Given the description of an element on the screen output the (x, y) to click on. 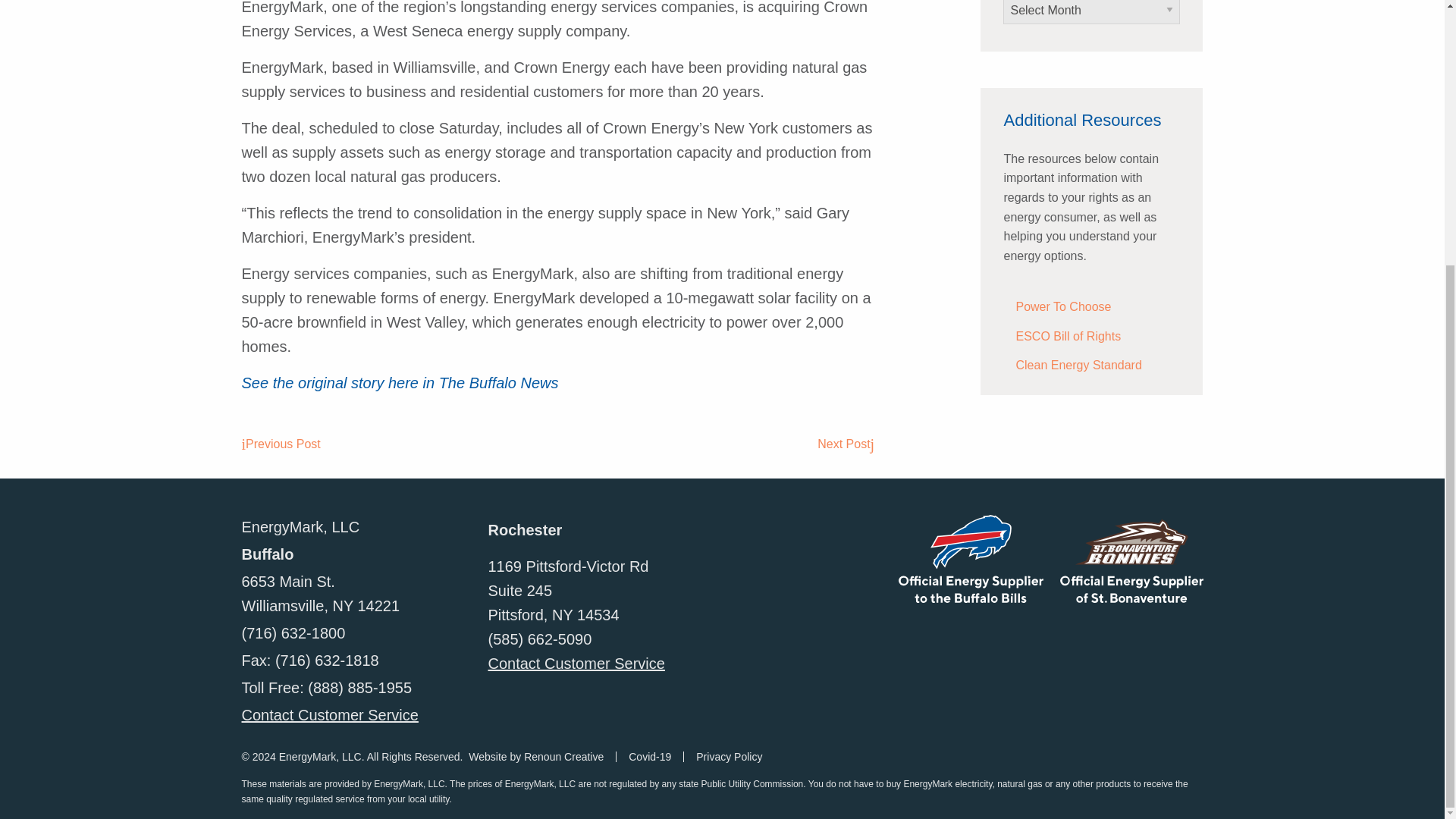
Call Us Toll-free (359, 687)
Call Us (539, 638)
Call Us (293, 632)
